Given the description of an element on the screen output the (x, y) to click on. 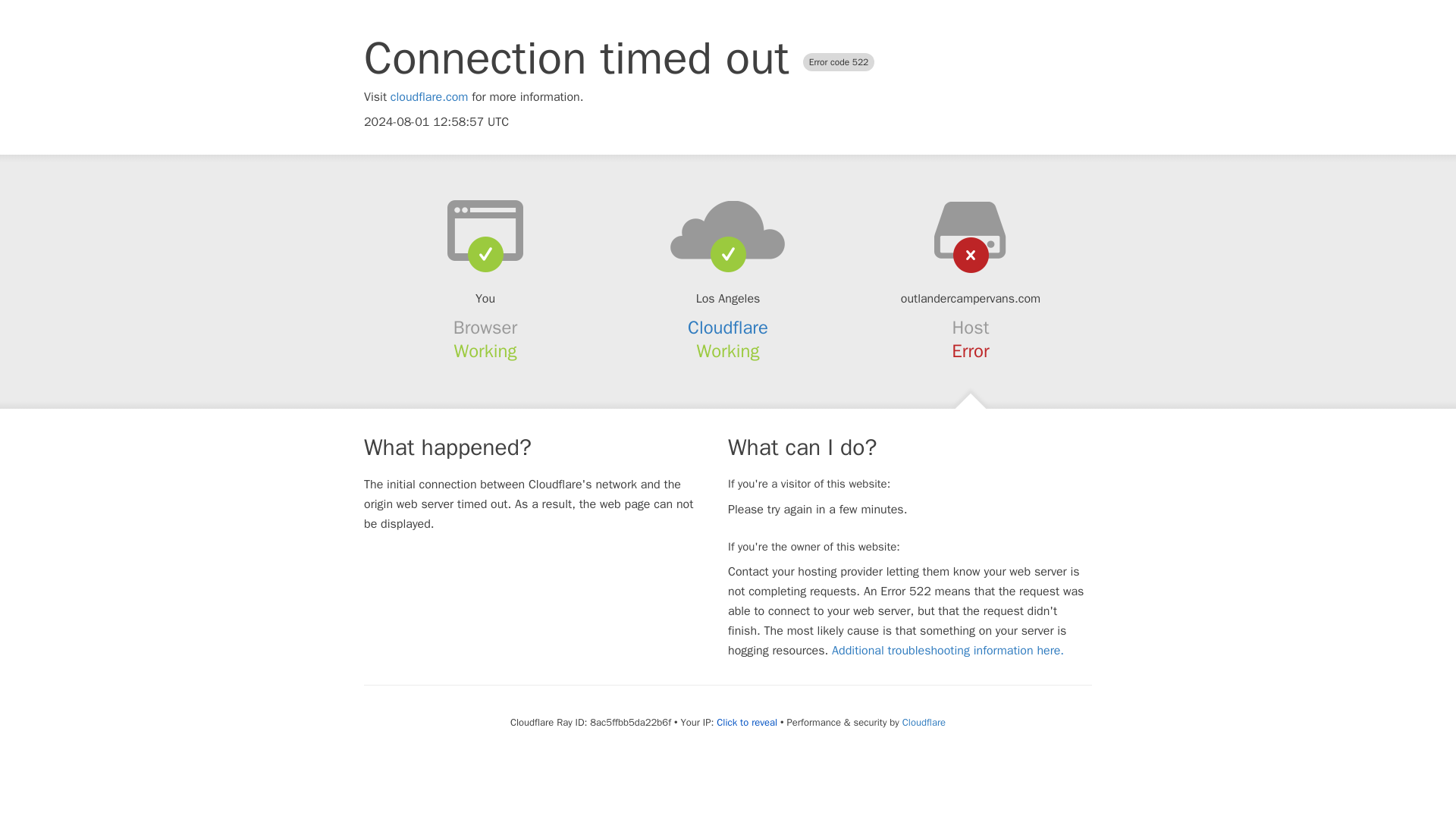
cloudflare.com (429, 96)
Cloudflare (923, 721)
Click to reveal (746, 722)
Cloudflare (727, 327)
Additional troubleshooting information here. (947, 650)
